Given the description of an element on the screen output the (x, y) to click on. 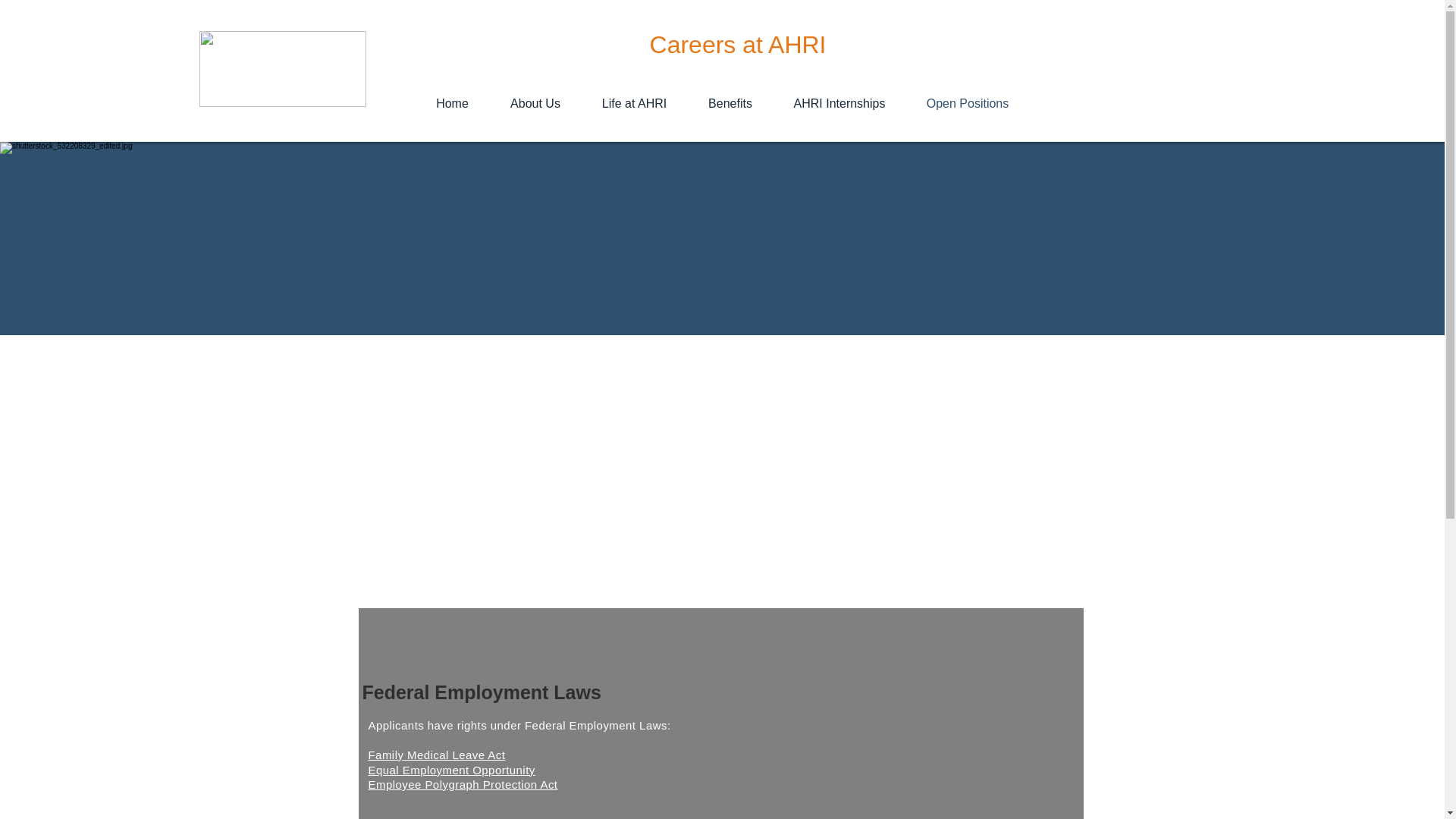
Employee Polygraph Protection Act (462, 784)
Open Positions (967, 103)
Benefits (730, 103)
Home (451, 103)
Equal Employment Opportunity (451, 768)
Family Medical Leave Act (436, 754)
Life at AHRI (633, 103)
AHRI Internships (839, 103)
About Us (534, 103)
